Given the description of an element on the screen output the (x, y) to click on. 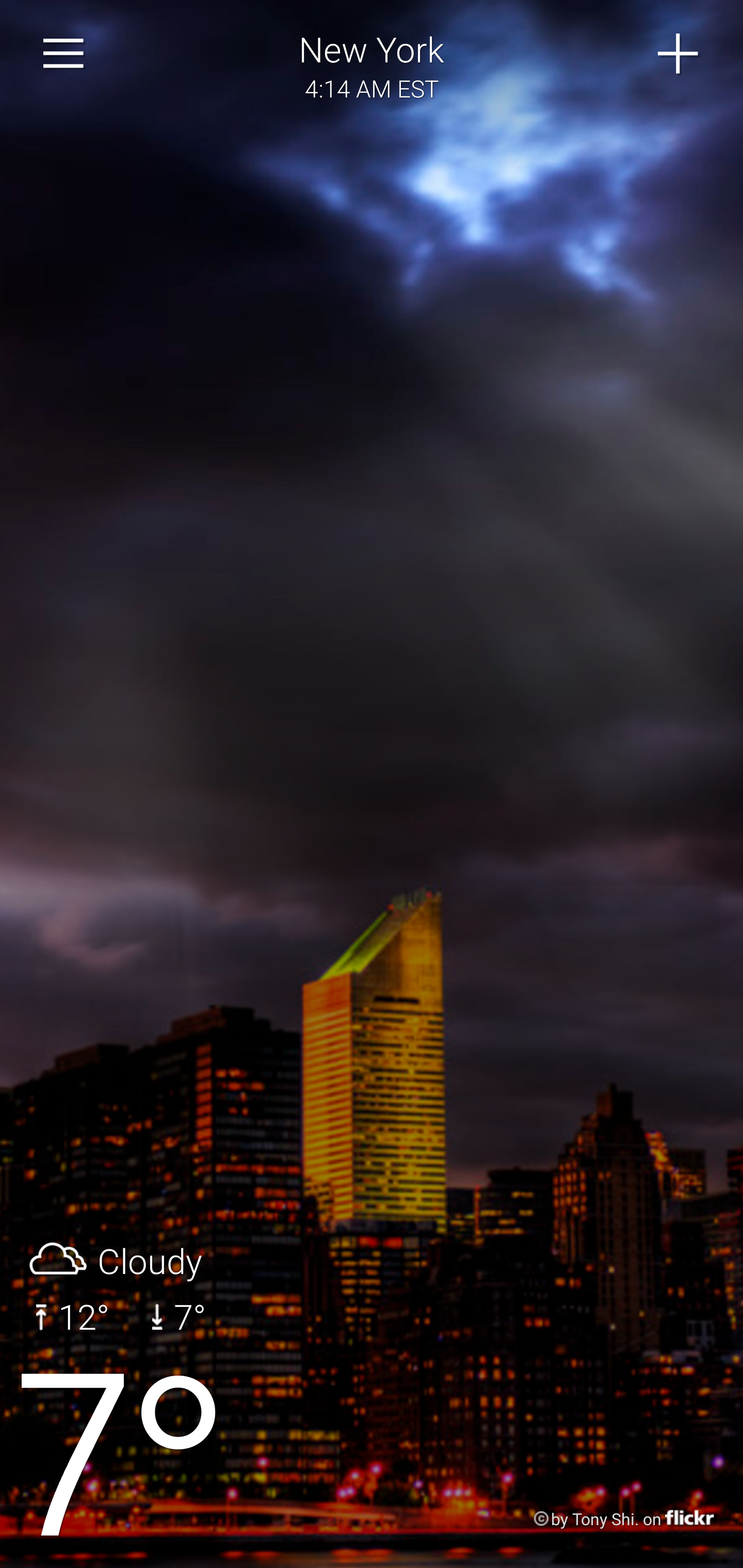
Sidebar (64, 54)
Add City (678, 53)
